Given the description of an element on the screen output the (x, y) to click on. 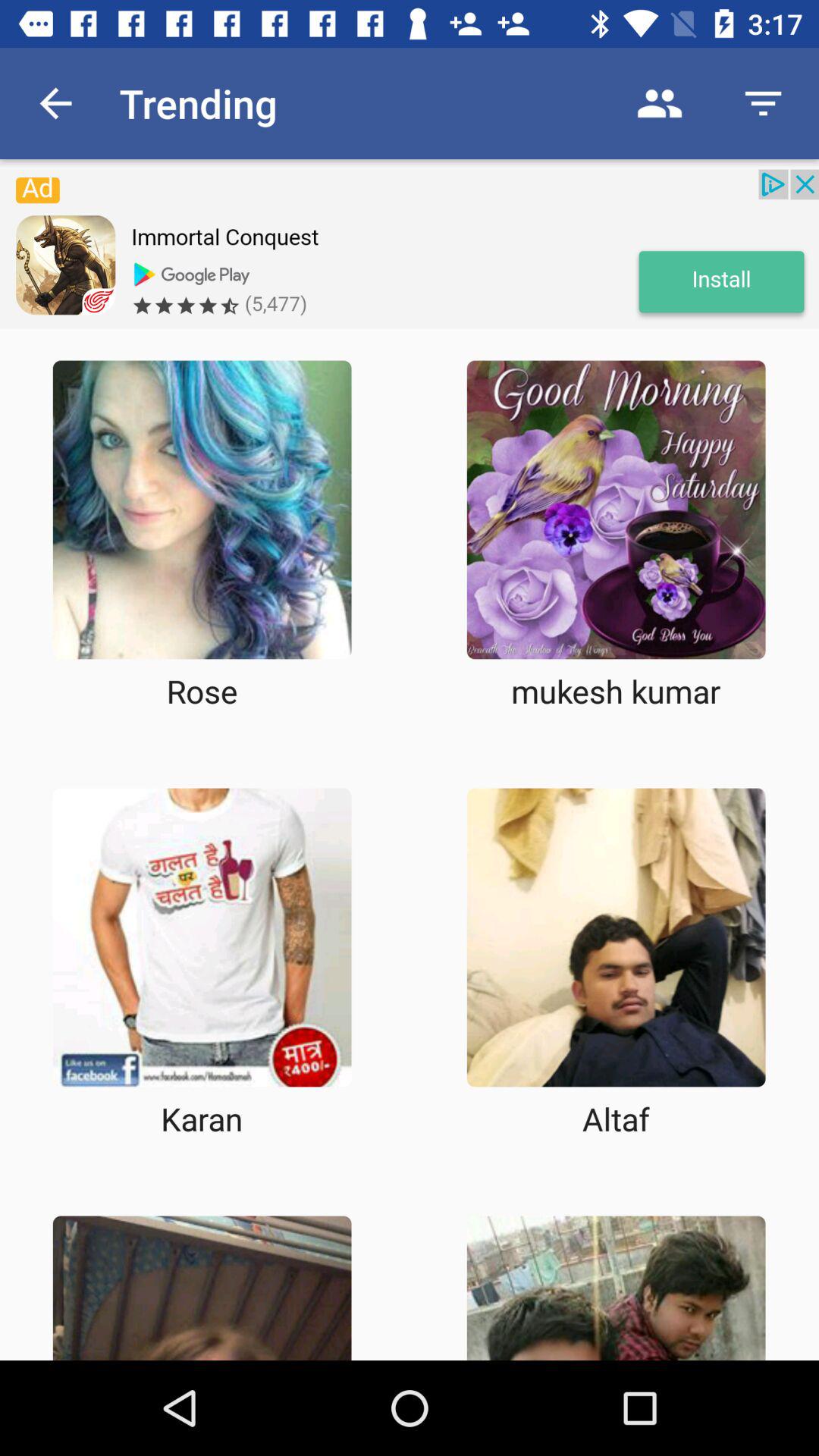
image display (615, 509)
